Given the description of an element on the screen output the (x, y) to click on. 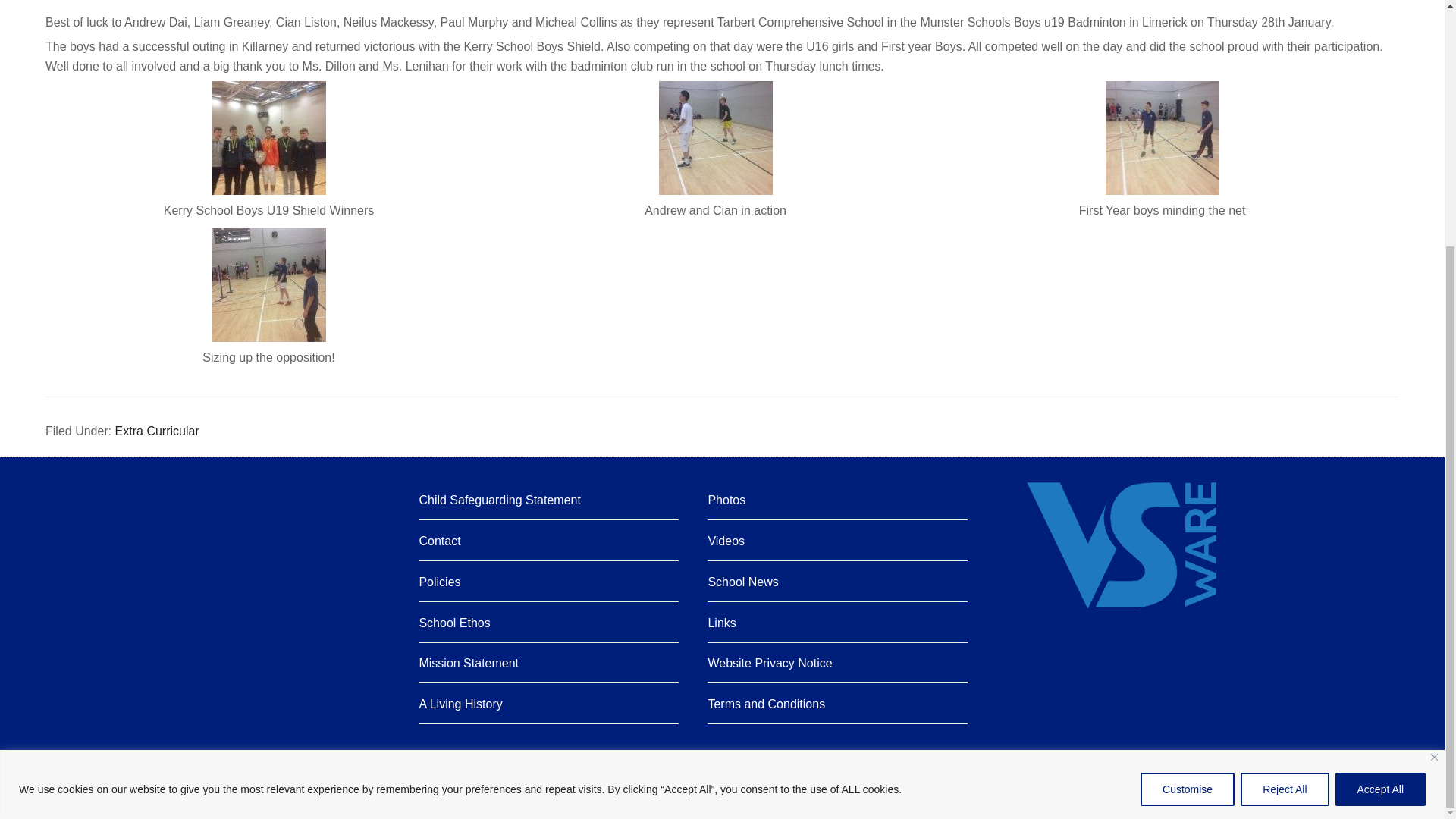
Reject All (1283, 444)
Customise (1187, 444)
Accept All (1380, 444)
